Given the description of an element on the screen output the (x, y) to click on. 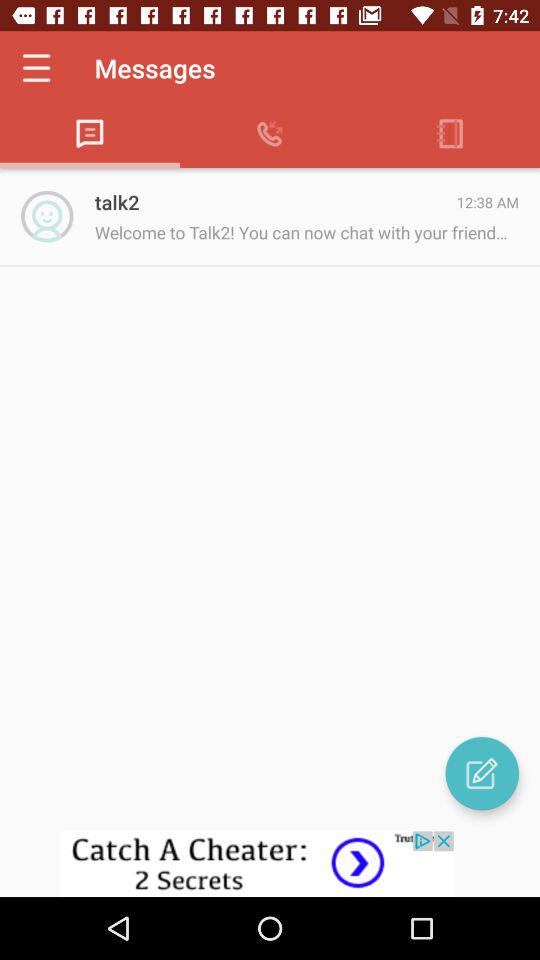
advertisement (270, 864)
